Given the description of an element on the screen output the (x, y) to click on. 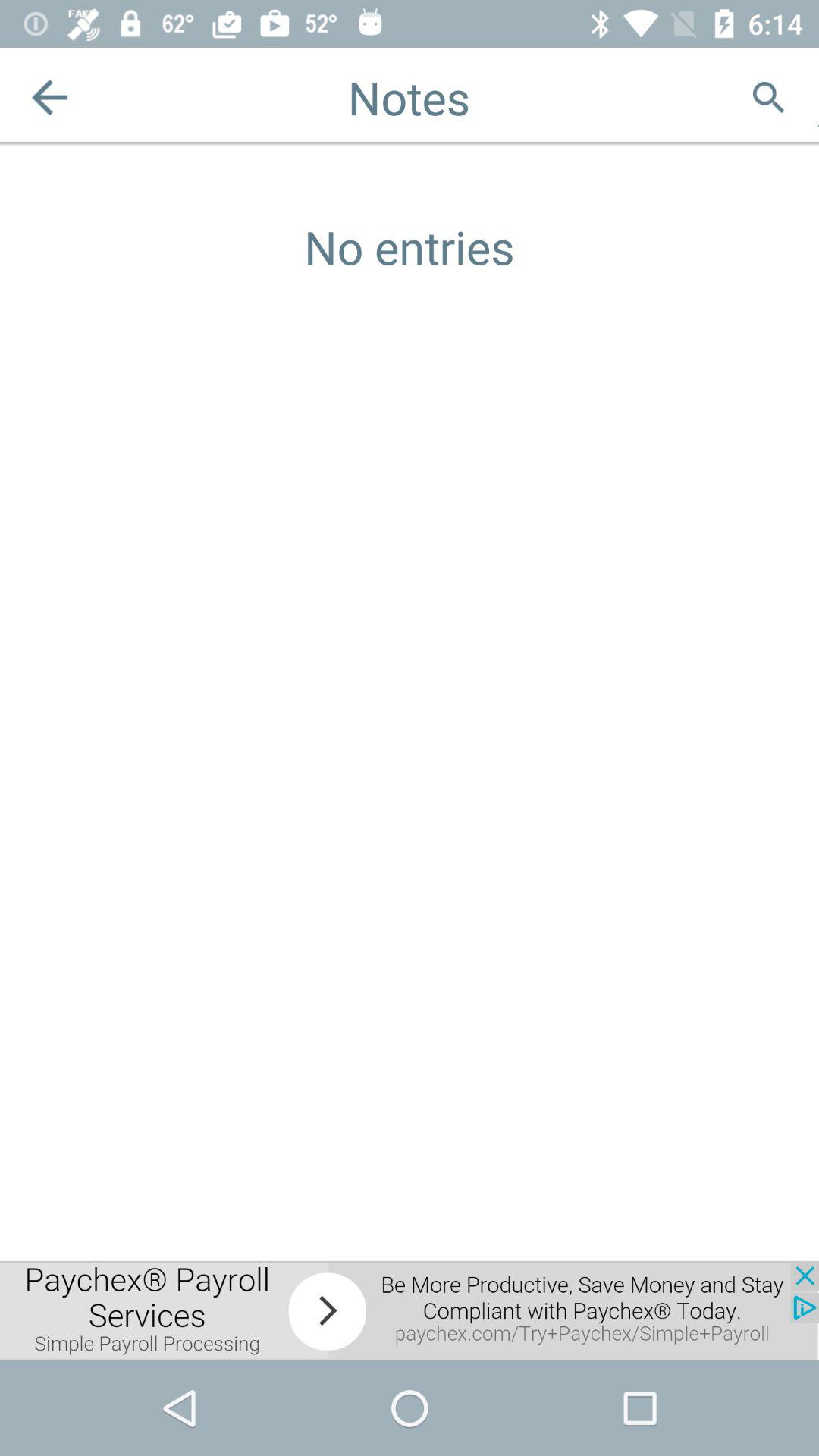
adventisment page (818, 97)
